Given the description of an element on the screen output the (x, y) to click on. 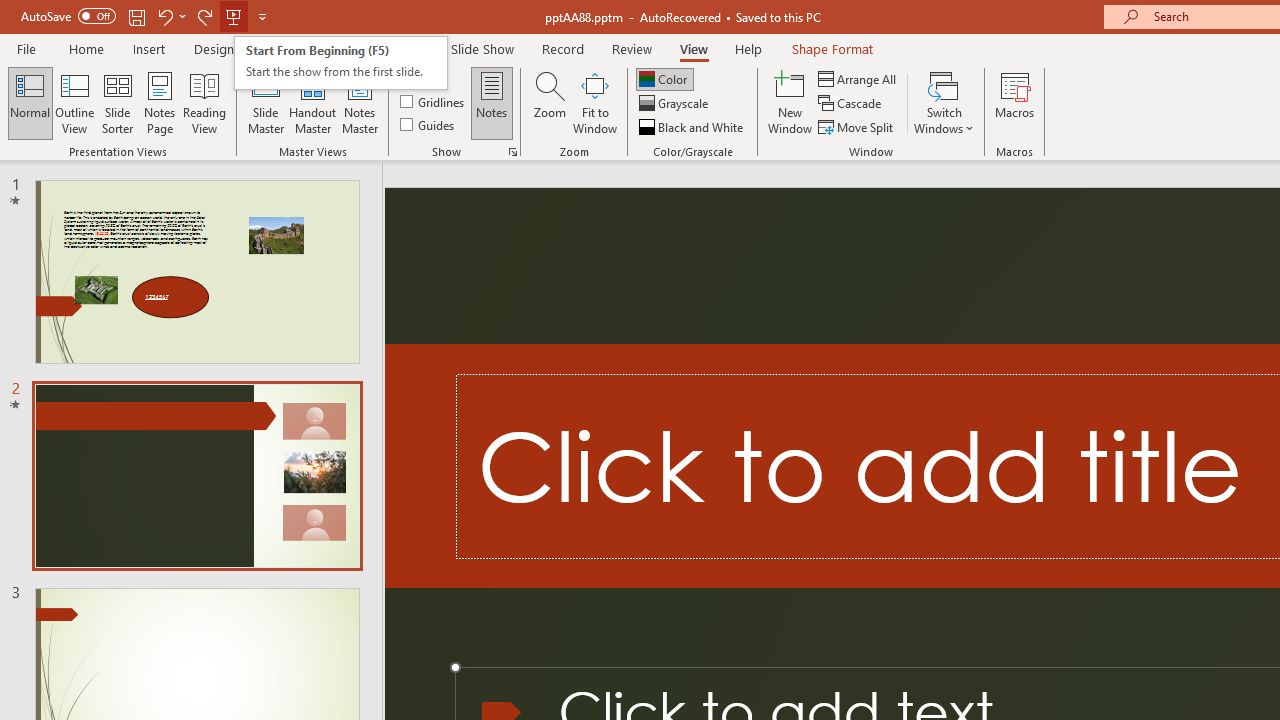
Zoom... (549, 102)
Notes (492, 102)
Cascade (851, 103)
Ruler (423, 78)
New Window (790, 102)
Color (664, 78)
Move Split (857, 126)
